Given the description of an element on the screen output the (x, y) to click on. 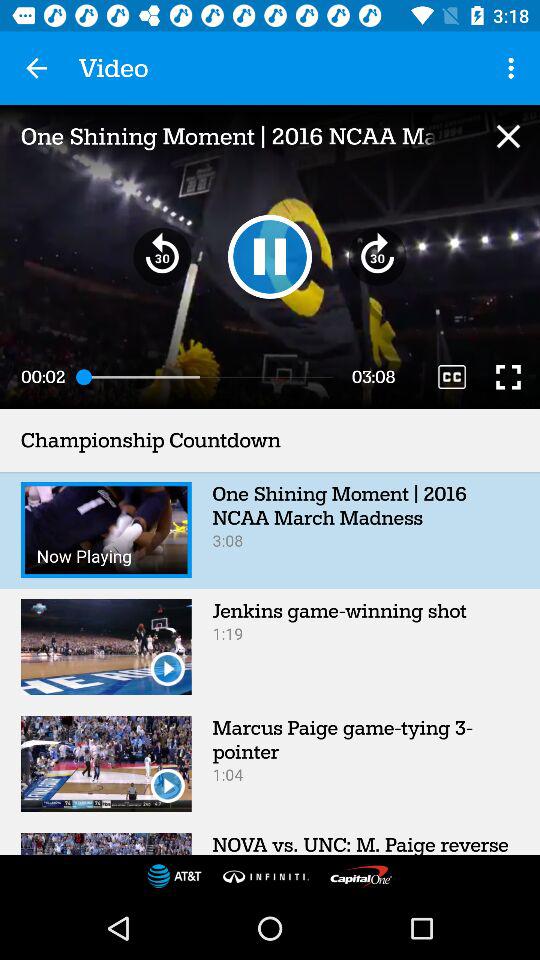
close video (508, 136)
